Given the description of an element on the screen output the (x, y) to click on. 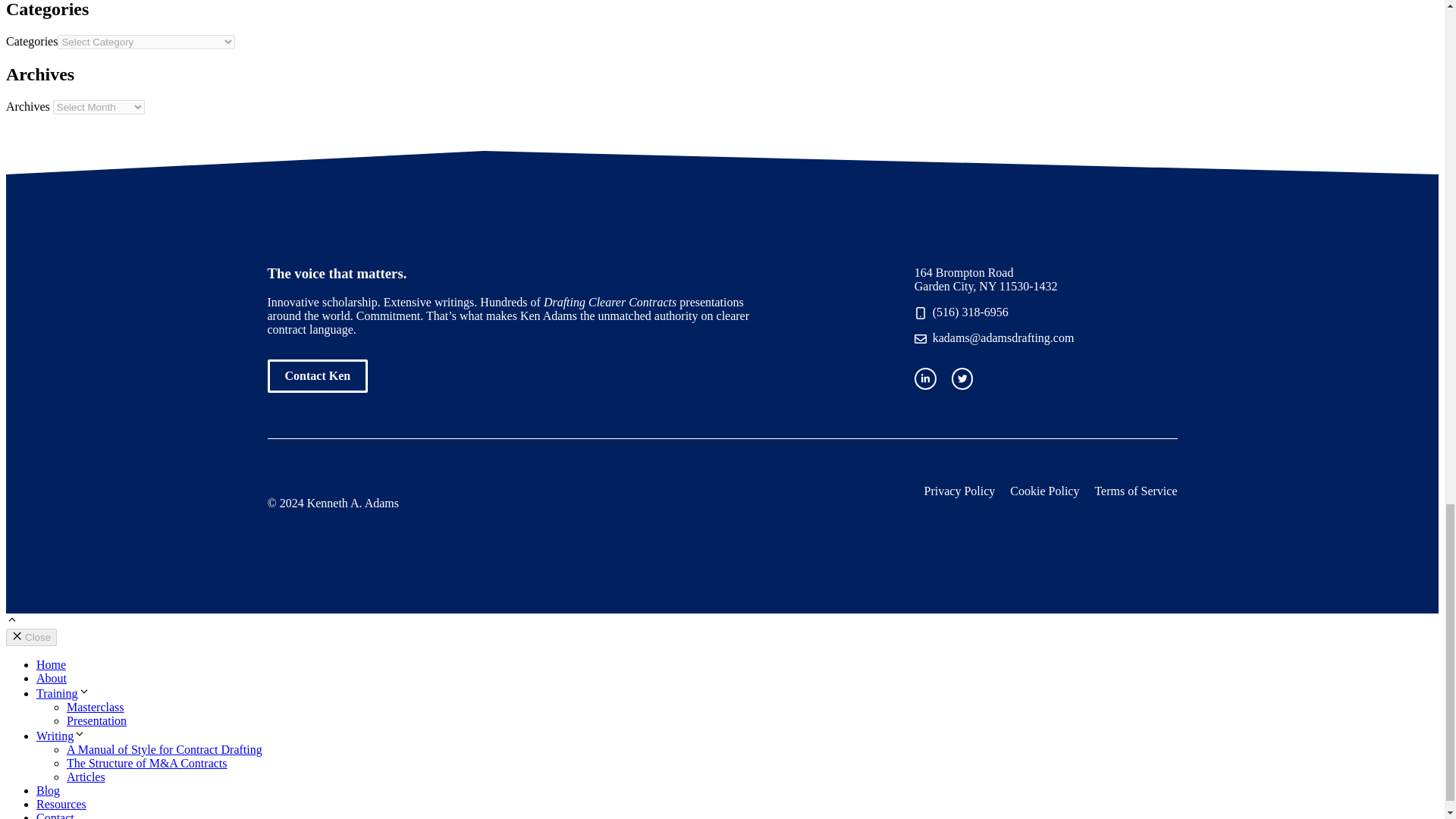
Contact Ken (317, 376)
Home (50, 664)
Scroll back to top (11, 621)
Cookie Policy (1044, 490)
Terms of Service (1135, 490)
Close (30, 636)
Privacy Policy (959, 490)
